Given the description of an element on the screen output the (x, y) to click on. 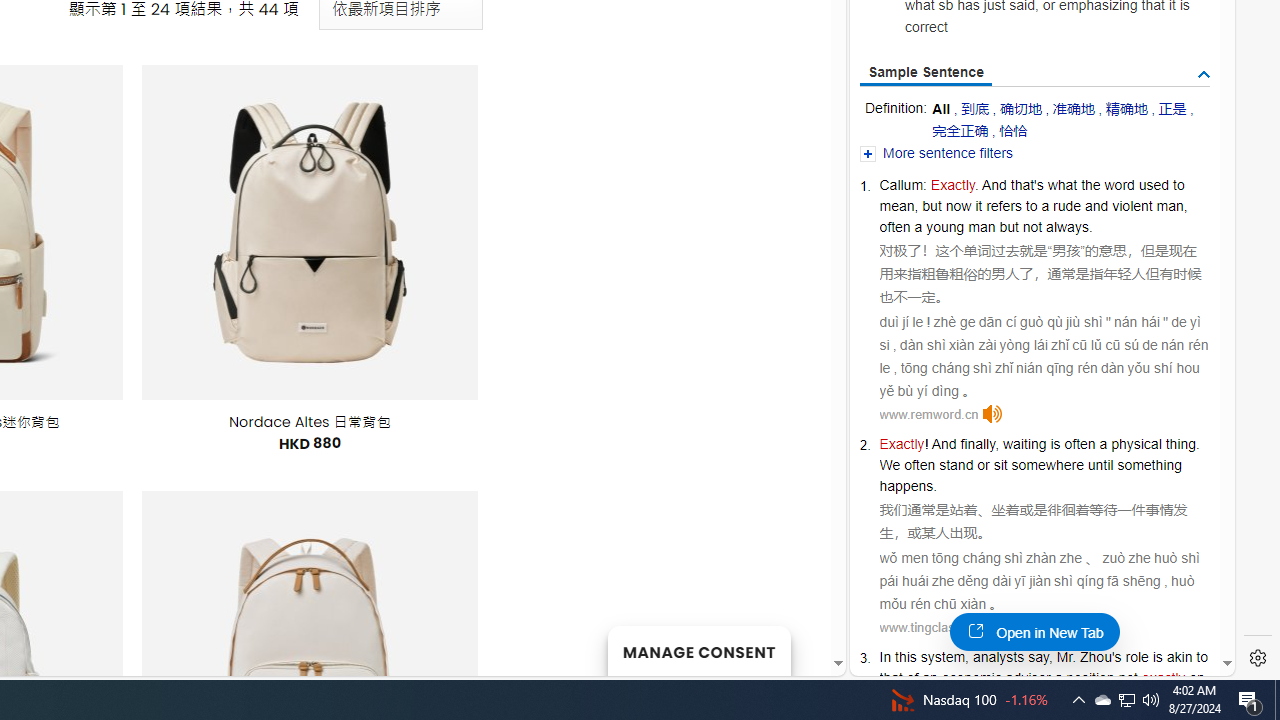
www.remword.cn (929, 413)
AutomationID: tgdef_sen (1203, 75)
position (1090, 678)
akin (1179, 656)
or (982, 465)
often (1079, 444)
. (935, 485)
www.tingclass.net (931, 627)
